Given the description of an element on the screen output the (x, y) to click on. 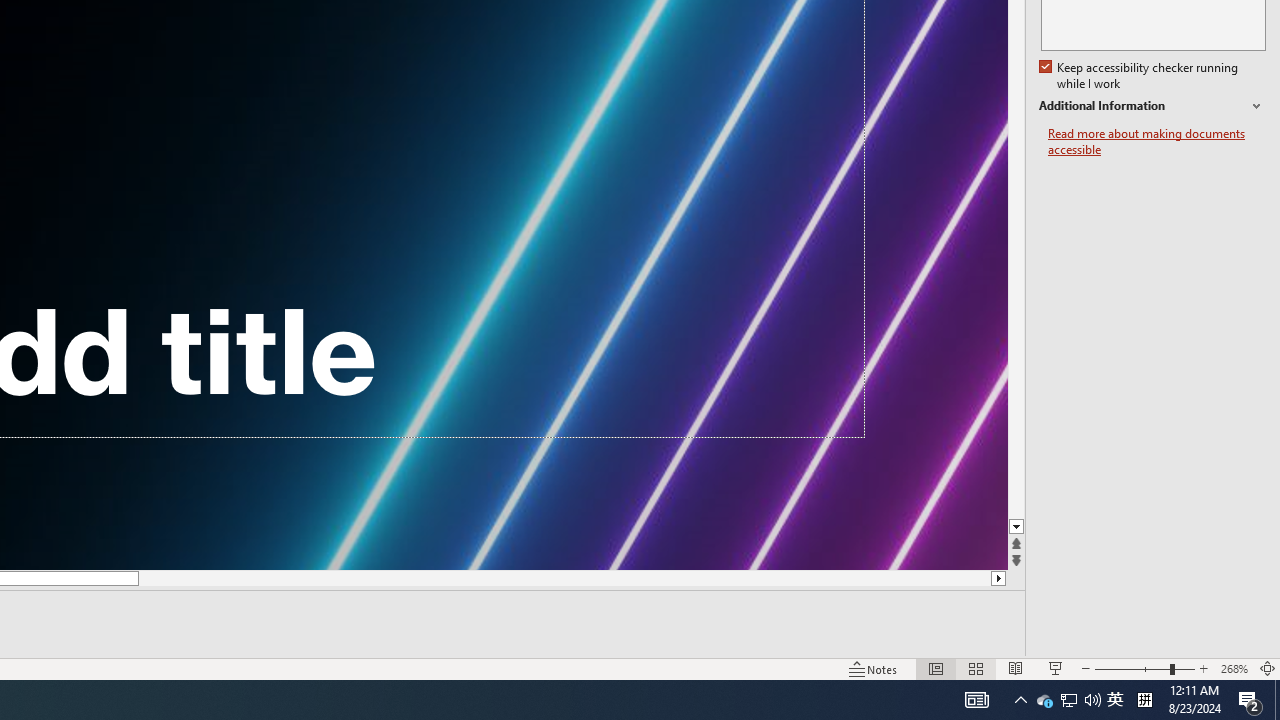
Zoom 268% (1234, 668)
